Given the description of an element on the screen output the (x, y) to click on. 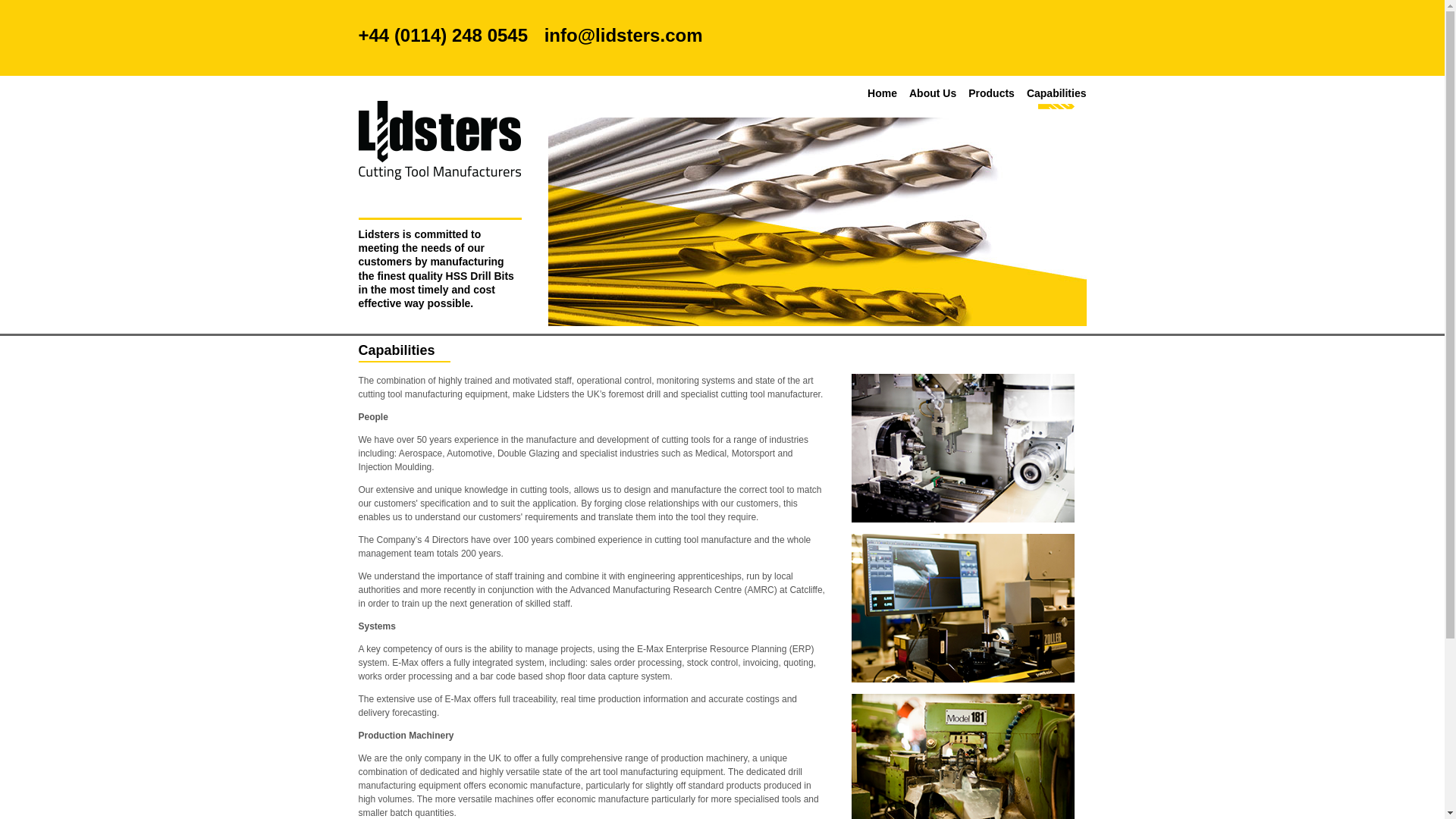
About Us (932, 94)
Home (881, 94)
About Us (932, 94)
Capabilities (1056, 94)
Products (991, 94)
Capabilities (1056, 94)
Cutting Tool Manufacturers - Lidsters Paragon Tool Co. Ltd. (438, 139)
Products  (991, 94)
